Given the description of an element on the screen output the (x, y) to click on. 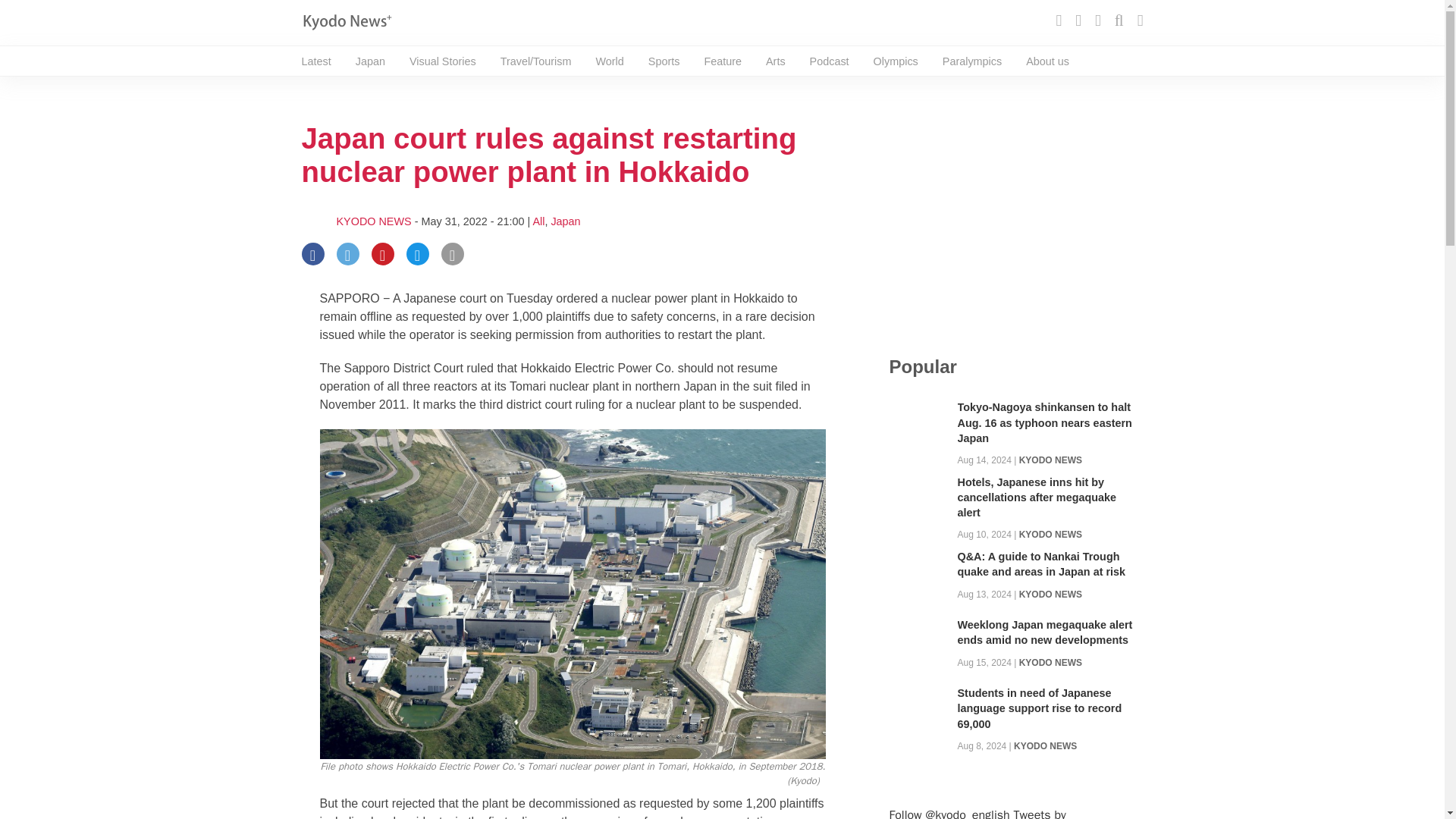
Olympics (895, 61)
Feature (722, 61)
Paralympics (971, 61)
All (538, 221)
Sports (663, 61)
About us (1047, 61)
Latest (316, 61)
Japan (564, 221)
Podcast (828, 61)
Visual Stories (442, 61)
